Given the description of an element on the screen output the (x, y) to click on. 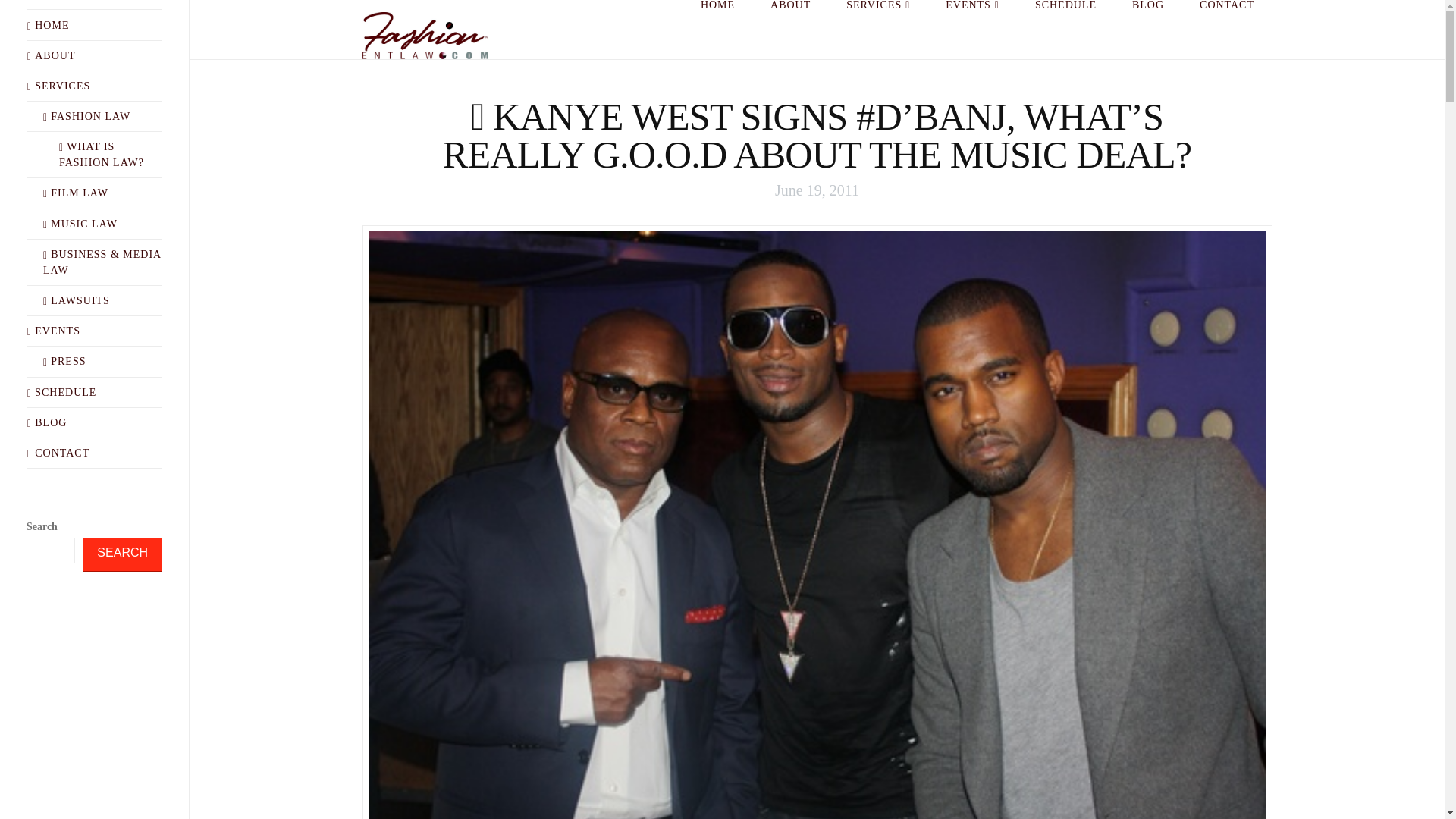
ABOUT (790, 26)
SERVICES (878, 26)
SCHEDULE (1064, 26)
CONTACT (1227, 26)
HOME (717, 26)
EVENTS (972, 26)
HOME (55, 25)
BLOG (1146, 26)
